Given the description of an element on the screen output the (x, y) to click on. 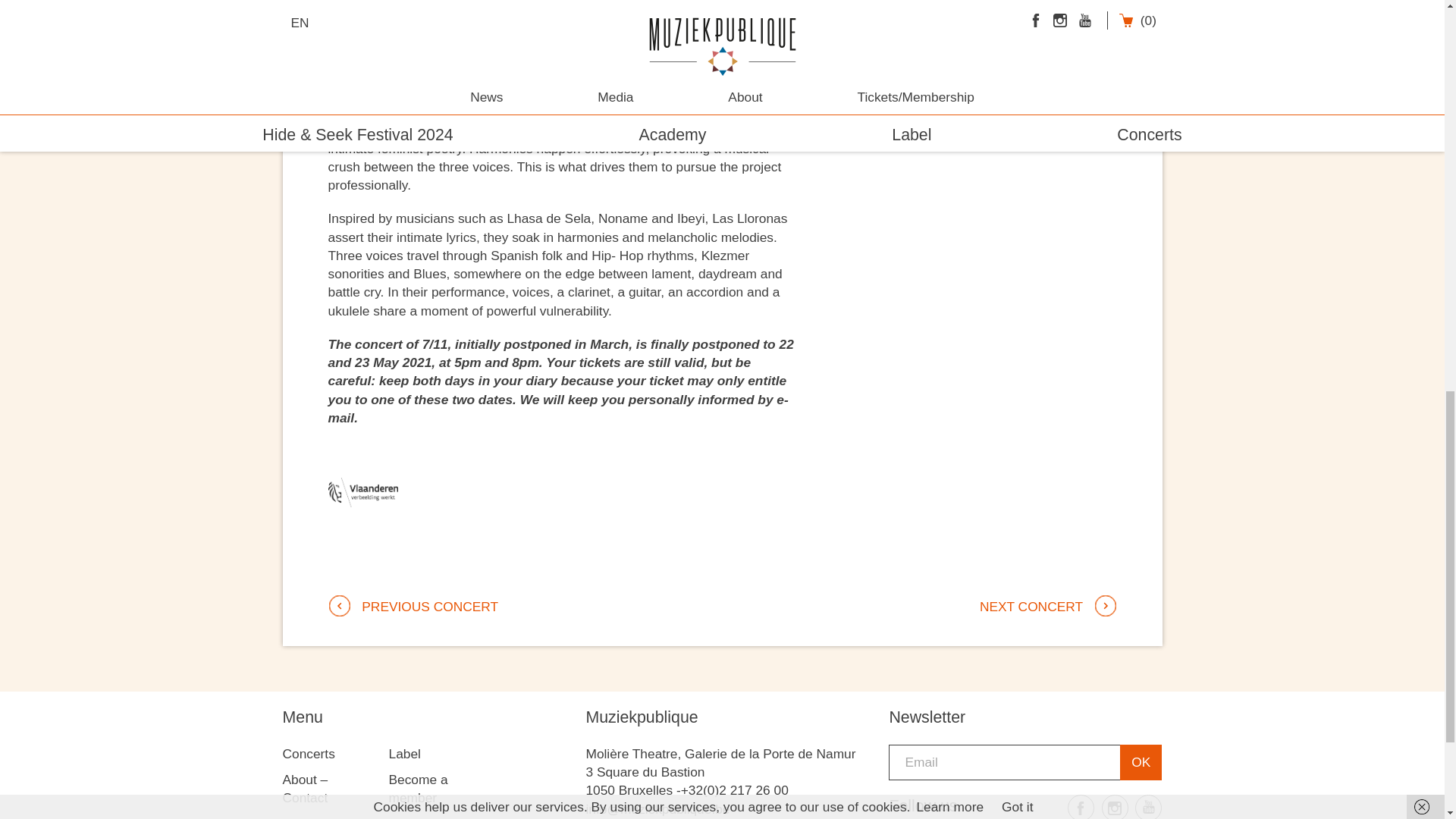
Ok (1140, 762)
